Given the description of an element on the screen output the (x, y) to click on. 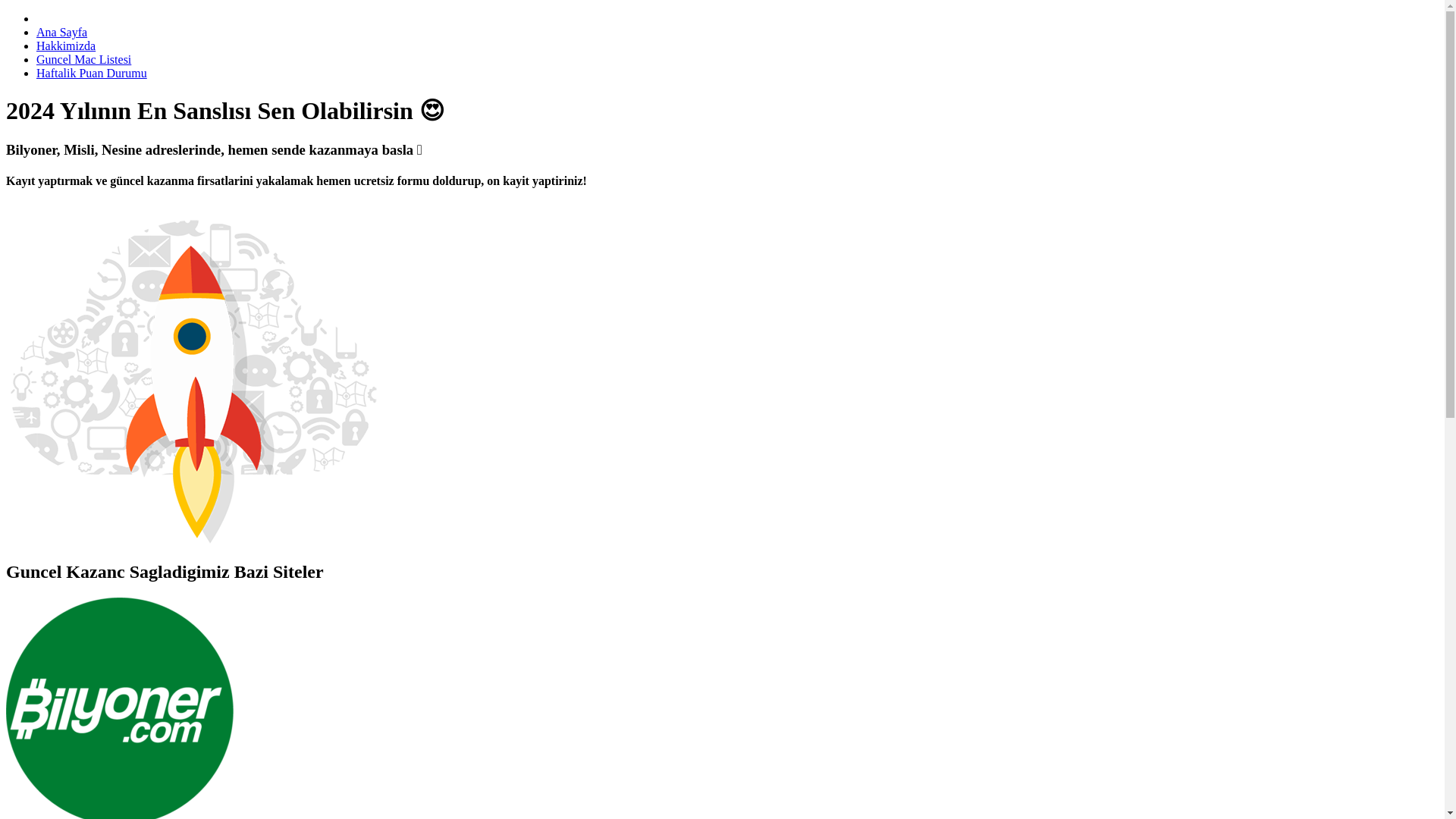
Guncel Mac Listesi (83, 59)
Haftalik Puan Durumu (91, 72)
Haftalik Puan Durumu (91, 72)
Hakkimizda (66, 45)
Ana Sayfa (61, 31)
Ana Sayfa (61, 31)
Hakkimizda (66, 45)
Guncel Mac Listesi (83, 59)
